Given the description of an element on the screen output the (x, y) to click on. 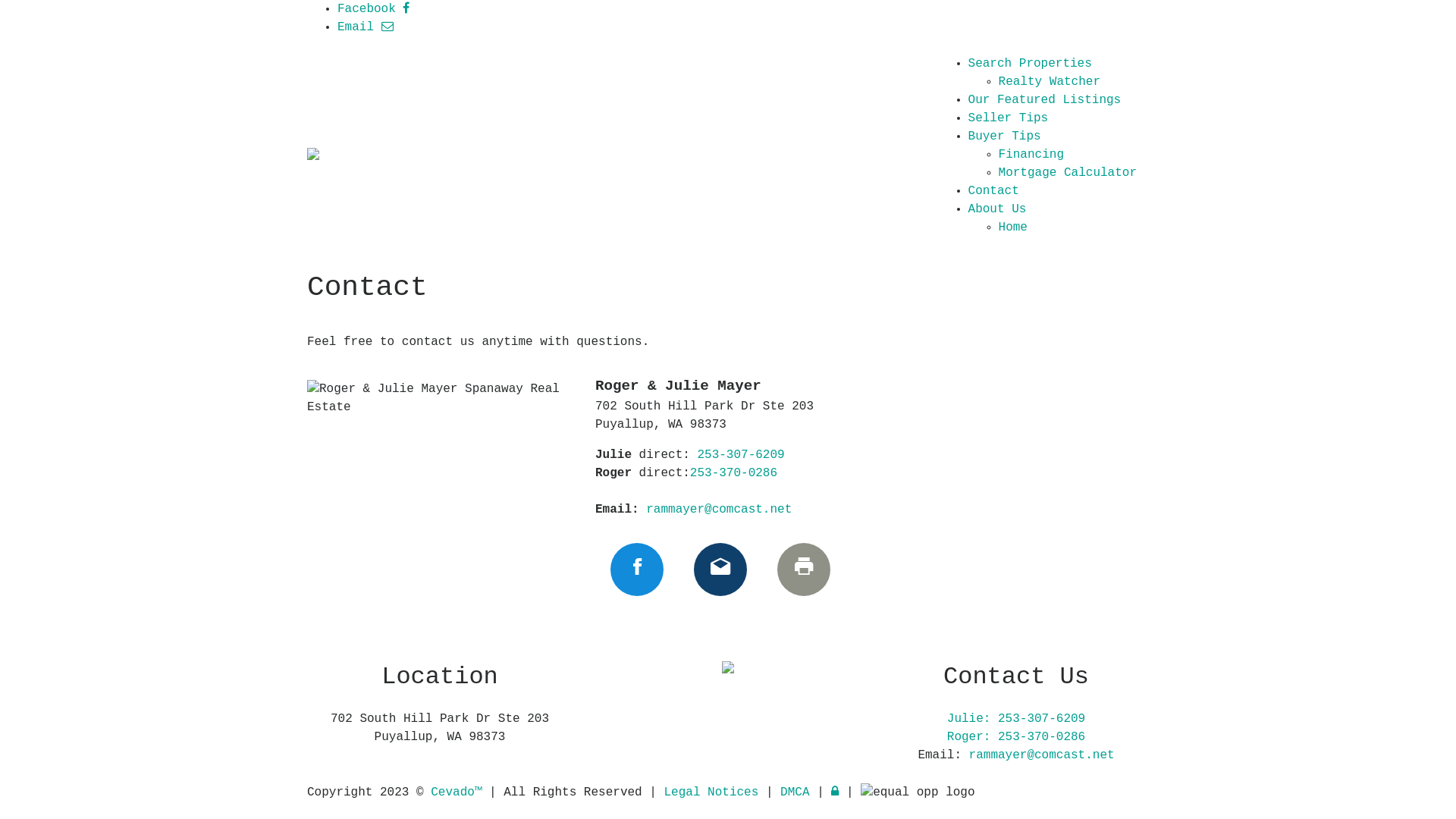
facebook Element type: hover (636, 569)
Contact Element type: text (993, 190)
Roger: 253-370-0286 Element type: text (1016, 736)
Seller Tips Element type: text (1008, 118)
Buyer Tips Element type: text (1004, 136)
253-370-0286 Element type: text (733, 473)
Our Featured Listings Element type: text (1044, 99)
Home Element type: text (1012, 227)
Julie Element type: text (1089, 8)
Facebook Element type: text (373, 8)
Roger Element type: text (1128, 8)
Mortgage Calculator Element type: text (1067, 172)
Financing Element type: text (1030, 154)
rammayer@comcast.net Element type: text (718, 509)
Realty Watcher Element type: text (1049, 81)
Legal Notices Element type: text (714, 792)
Email Element type: text (365, 27)
Julie: 253-307-6209 Element type: text (1016, 718)
About Us Element type: text (997, 209)
rammayer@comcast.net Element type: text (1041, 755)
253-307-6209 Element type: text (740, 454)
Email Element type: hover (719, 569)
DMCA Element type: text (798, 792)
Fax Element type: hover (803, 569)
Search Properties Element type: text (1030, 63)
